Given the description of an element on the screen output the (x, y) to click on. 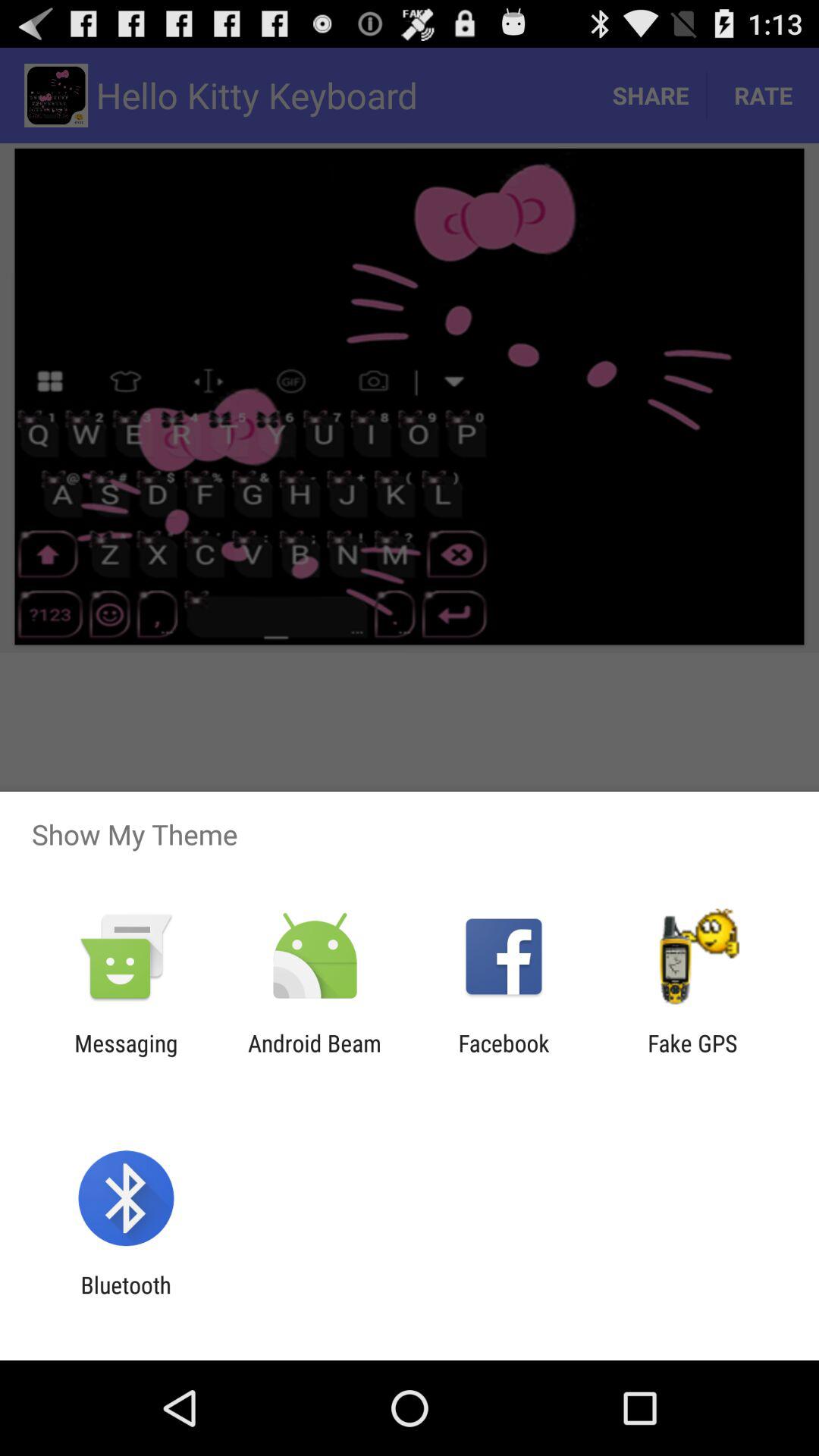
open the icon to the left of the fake gps app (503, 1056)
